Given the description of an element on the screen output the (x, y) to click on. 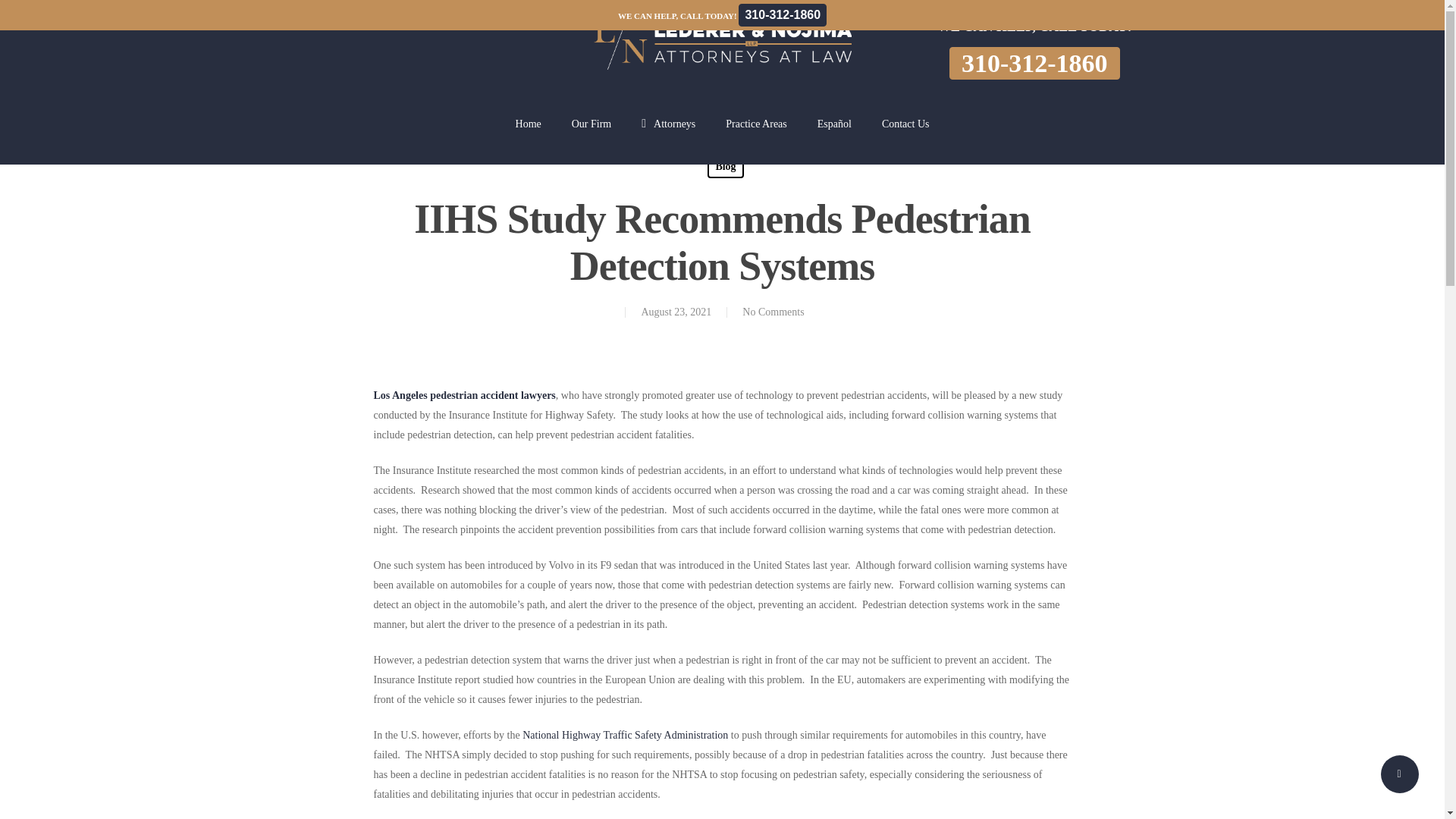
Contact Us (906, 135)
Blog (724, 166)
National Highway Traffic Safety Administration (625, 735)
No Comments (772, 311)
310-312-1860 (782, 14)
twitter (383, 19)
Los Angeles pedestrian accident lawyers (463, 395)
310-312-1860 (1034, 62)
Attorneys (668, 135)
310-312-1860 (1034, 62)
310-312-1860 (782, 15)
Our Firm (591, 135)
California Pedestrian Accident Law Firm (463, 395)
Practice Areas (755, 135)
facebook (411, 19)
